Given the description of an element on the screen output the (x, y) to click on. 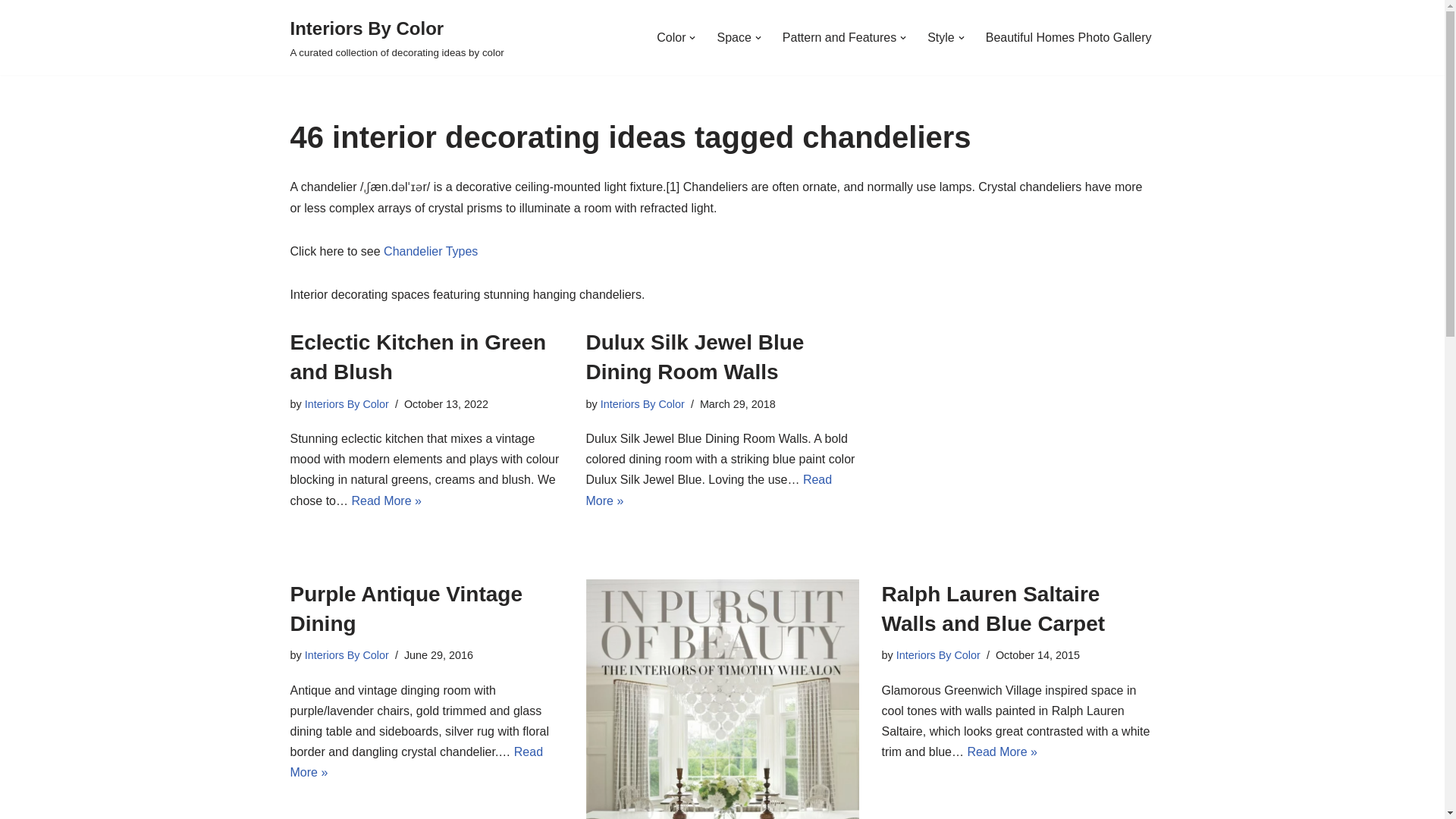
Posts by Interiors By Color (937, 654)
Posts by Interiors By Color (641, 404)
Space (733, 37)
Skip to content (11, 31)
In Pursuit of Beauty by Timothy Whealon (722, 699)
Posts by Interiors By Color (346, 404)
Posts by Interiors By Color (346, 654)
Color (670, 37)
